Given the description of an element on the screen output the (x, y) to click on. 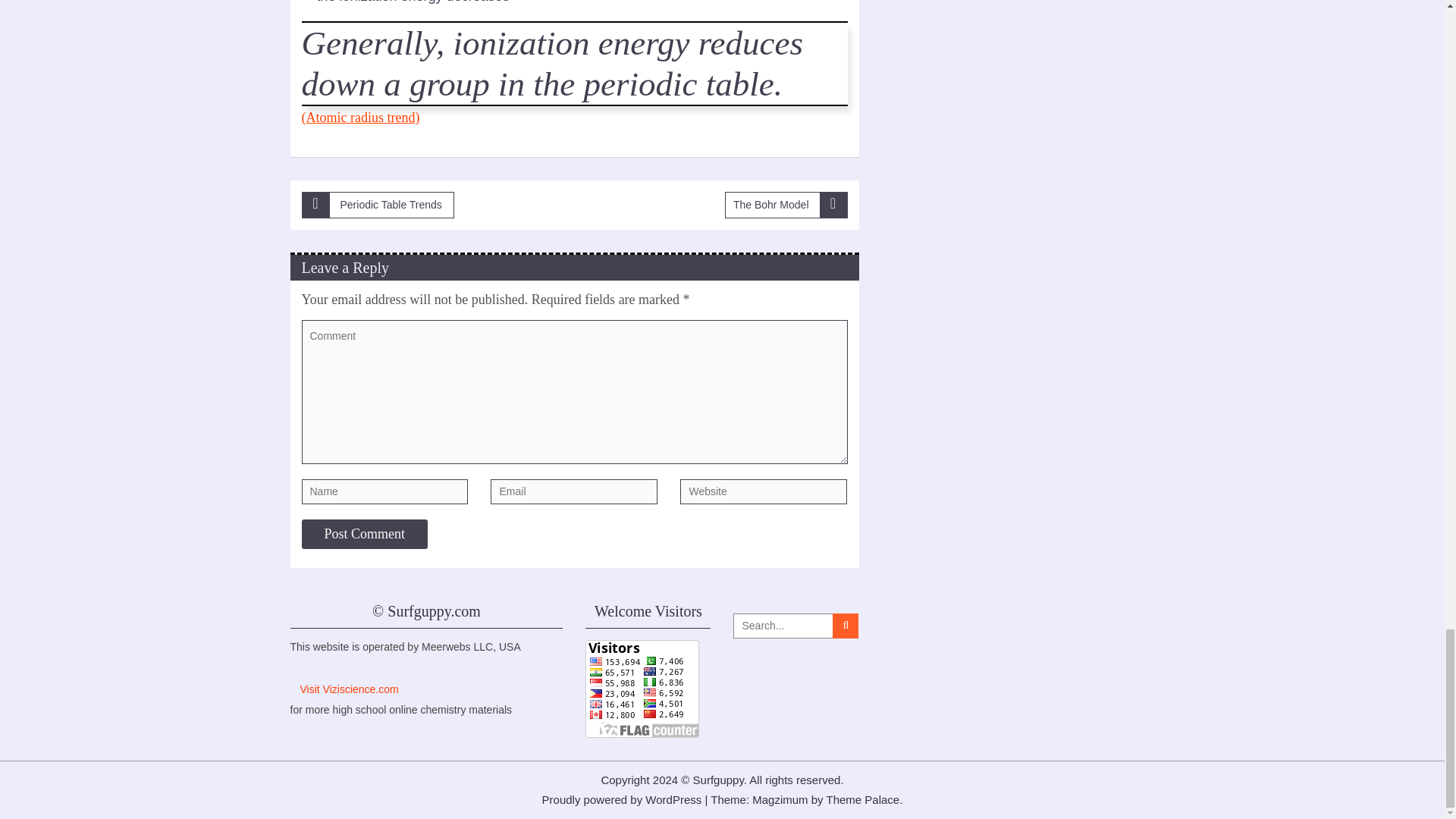
Periodic Table Trends (377, 205)
The Bohr Model (786, 205)
Post Comment (364, 533)
